Given the description of an element on the screen output the (x, y) to click on. 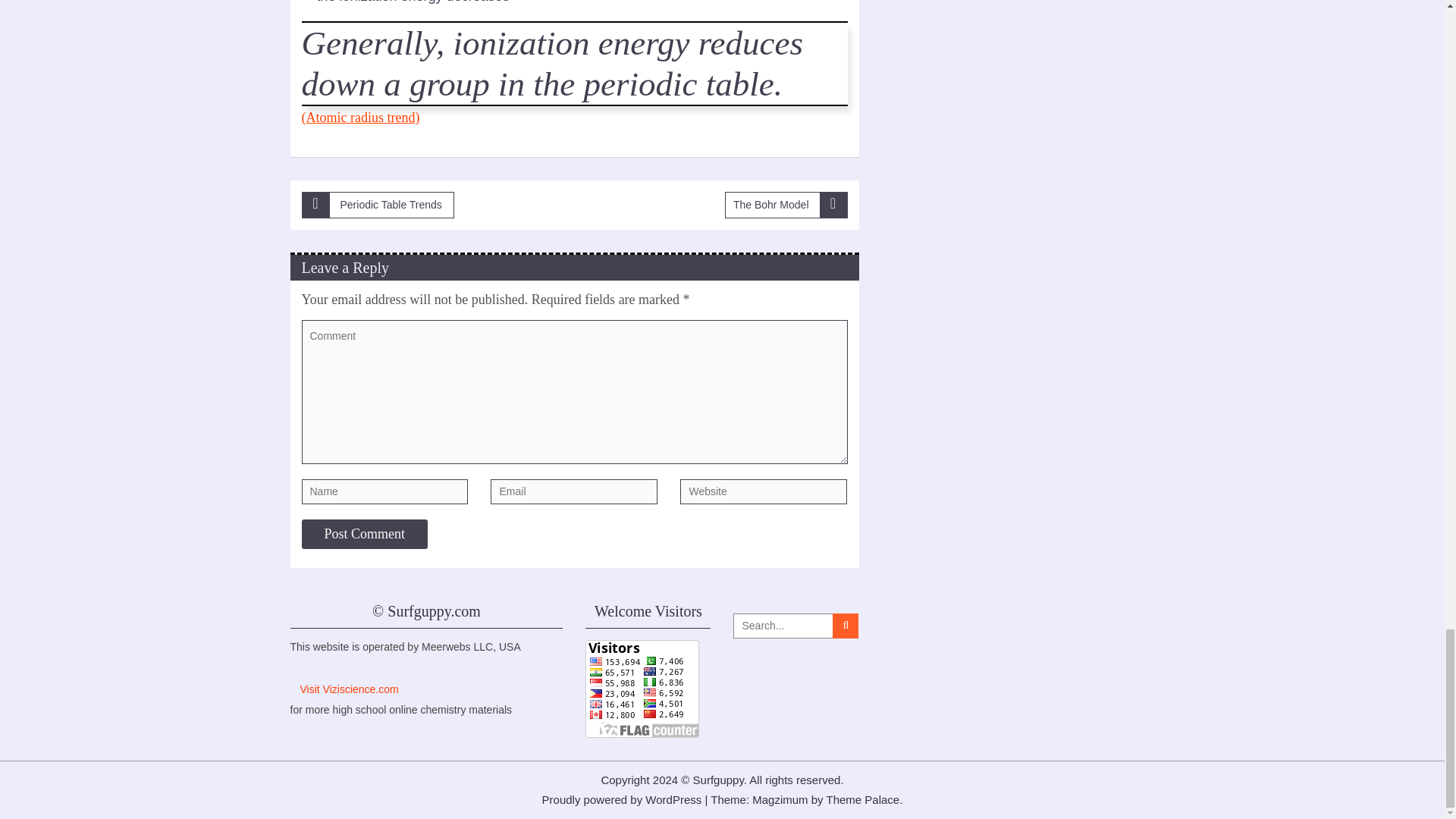
Periodic Table Trends (377, 205)
The Bohr Model (786, 205)
Post Comment (364, 533)
